Given the description of an element on the screen output the (x, y) to click on. 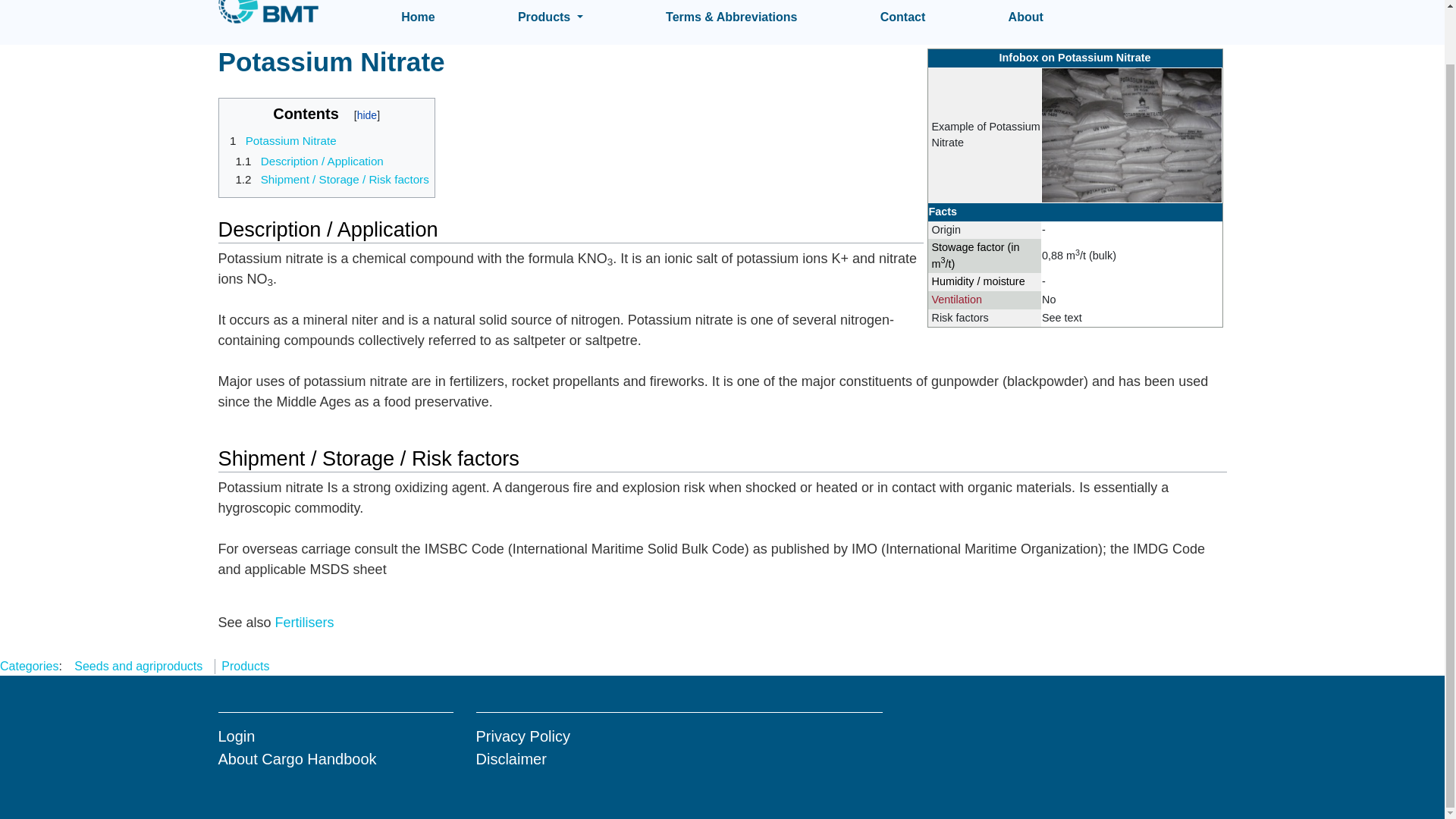
Categories (29, 666)
About Cargo Handbook (297, 759)
About (1026, 17)
Contact (903, 17)
Category:Seeds and agriproducts (138, 666)
Special:UserLogin (237, 736)
Home (417, 17)
Fertilisers (304, 622)
Special:Categories (29, 666)
Privacy policy (523, 736)
